Given the description of an element on the screen output the (x, y) to click on. 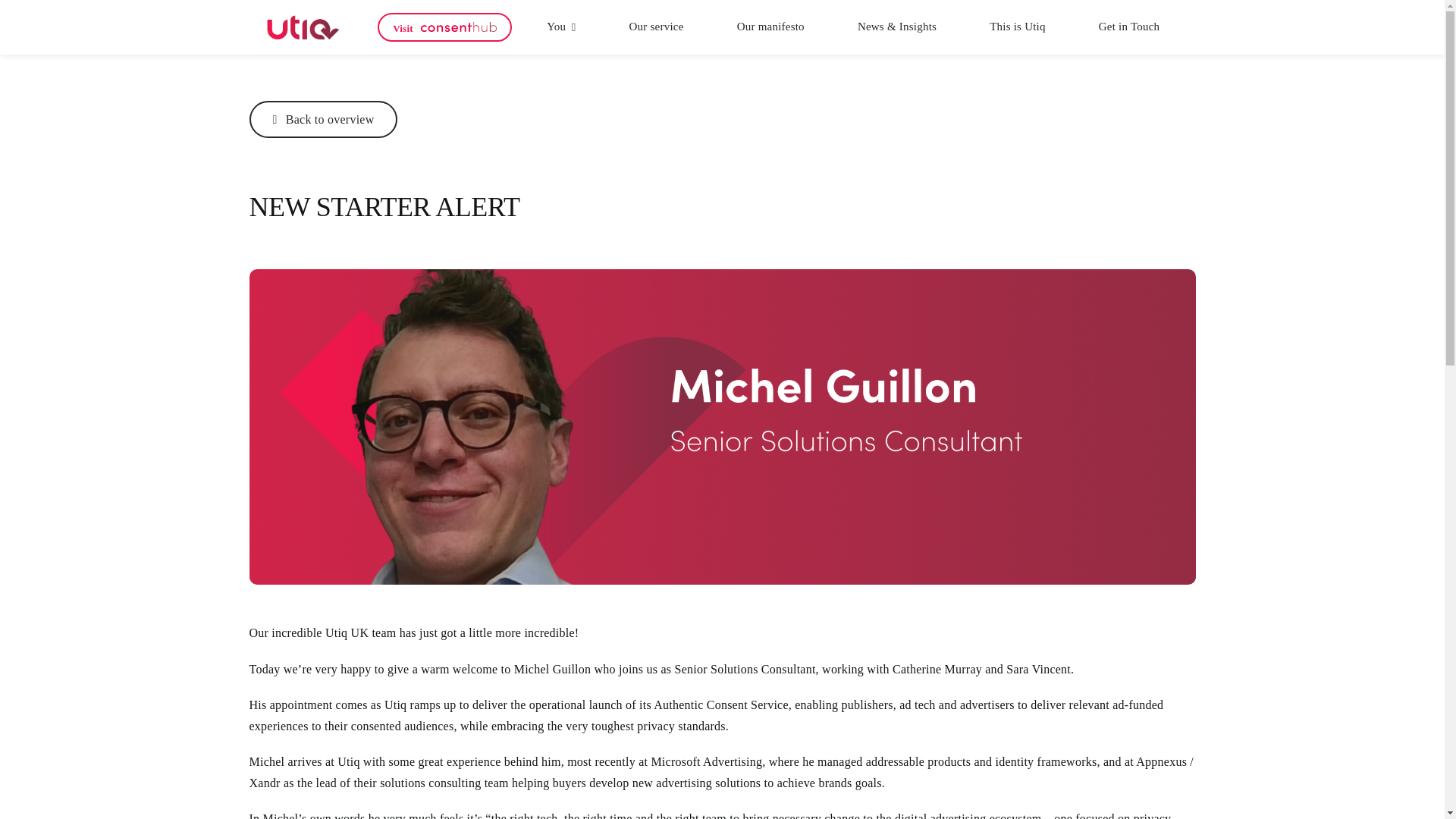
You (561, 26)
Get in Touch (1129, 26)
Our manifesto (770, 26)
consenthub-logo (458, 26)
Our service (656, 26)
This is Utiq (1017, 26)
Back to overview (322, 119)
